Given the description of an element on the screen output the (x, y) to click on. 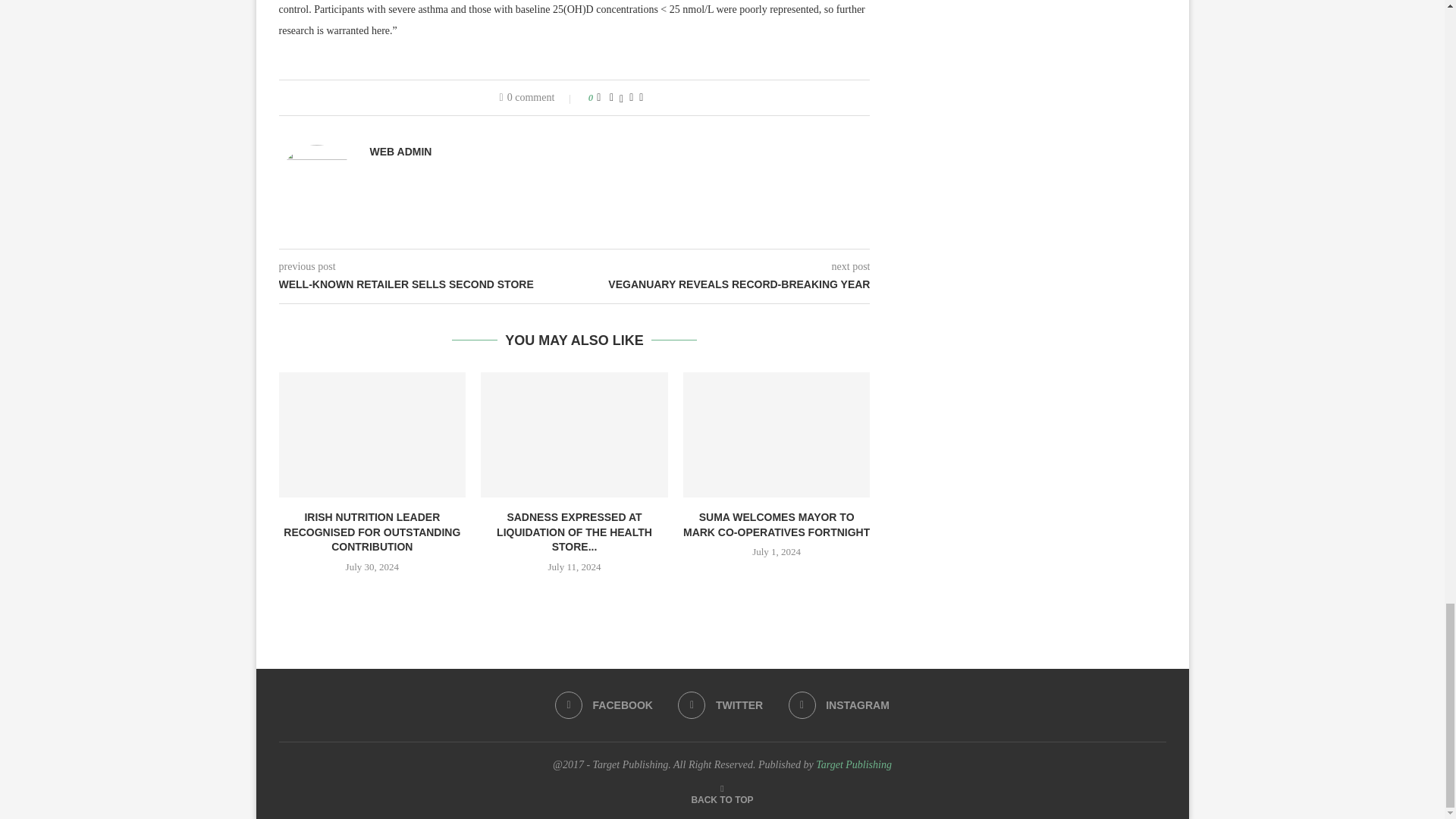
Like (597, 97)
Author Web Admin (400, 151)
Suma welcomes Mayor to mark Co-operatives Fortnight (776, 434)
